Given the description of an element on the screen output the (x, y) to click on. 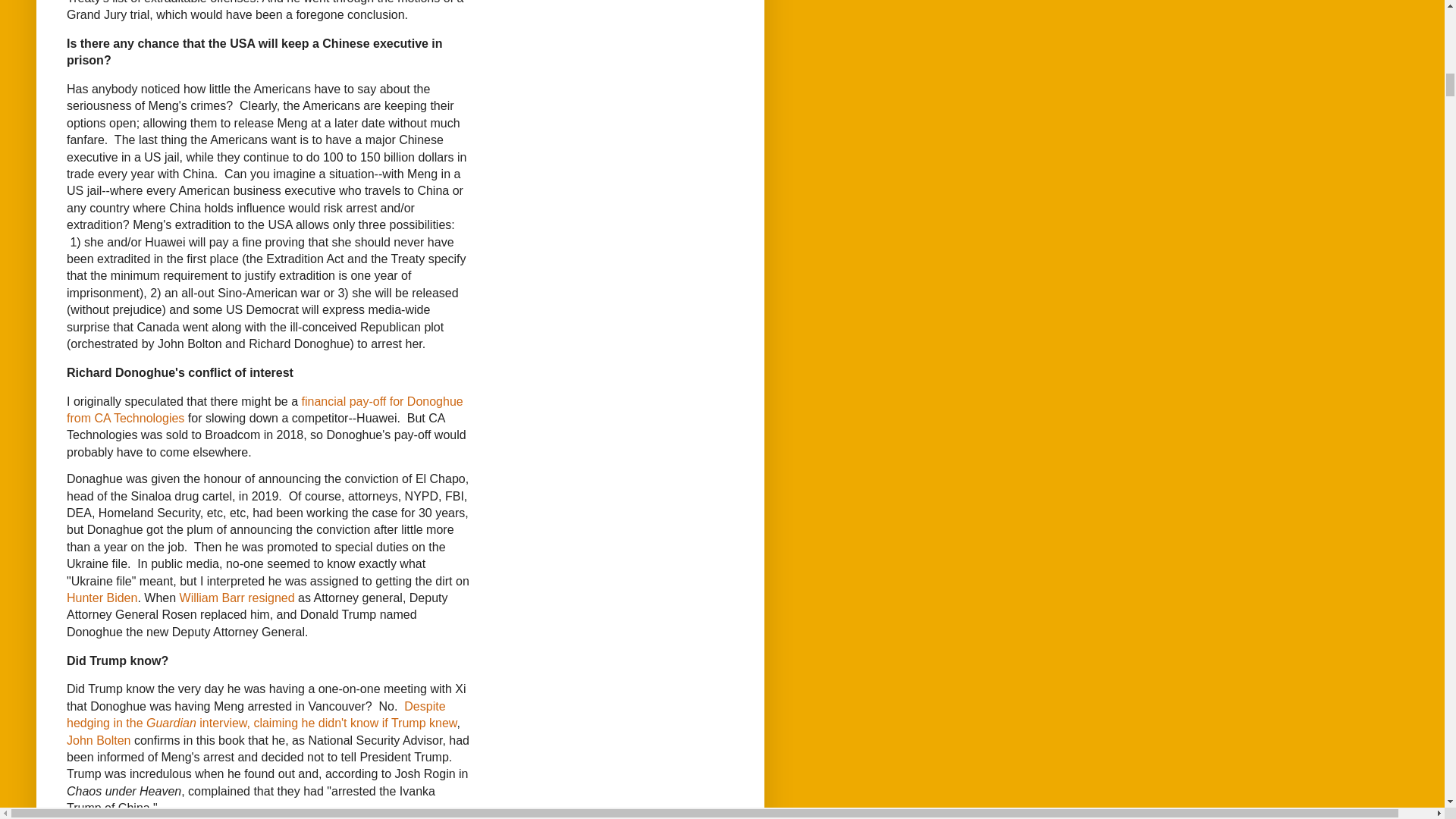
financial pay-off for Donoghue from CA Technologies (264, 409)
Hunter Biden (101, 597)
John Bolten (98, 739)
William Barr resigned (237, 597)
